Given the description of an element on the screen output the (x, y) to click on. 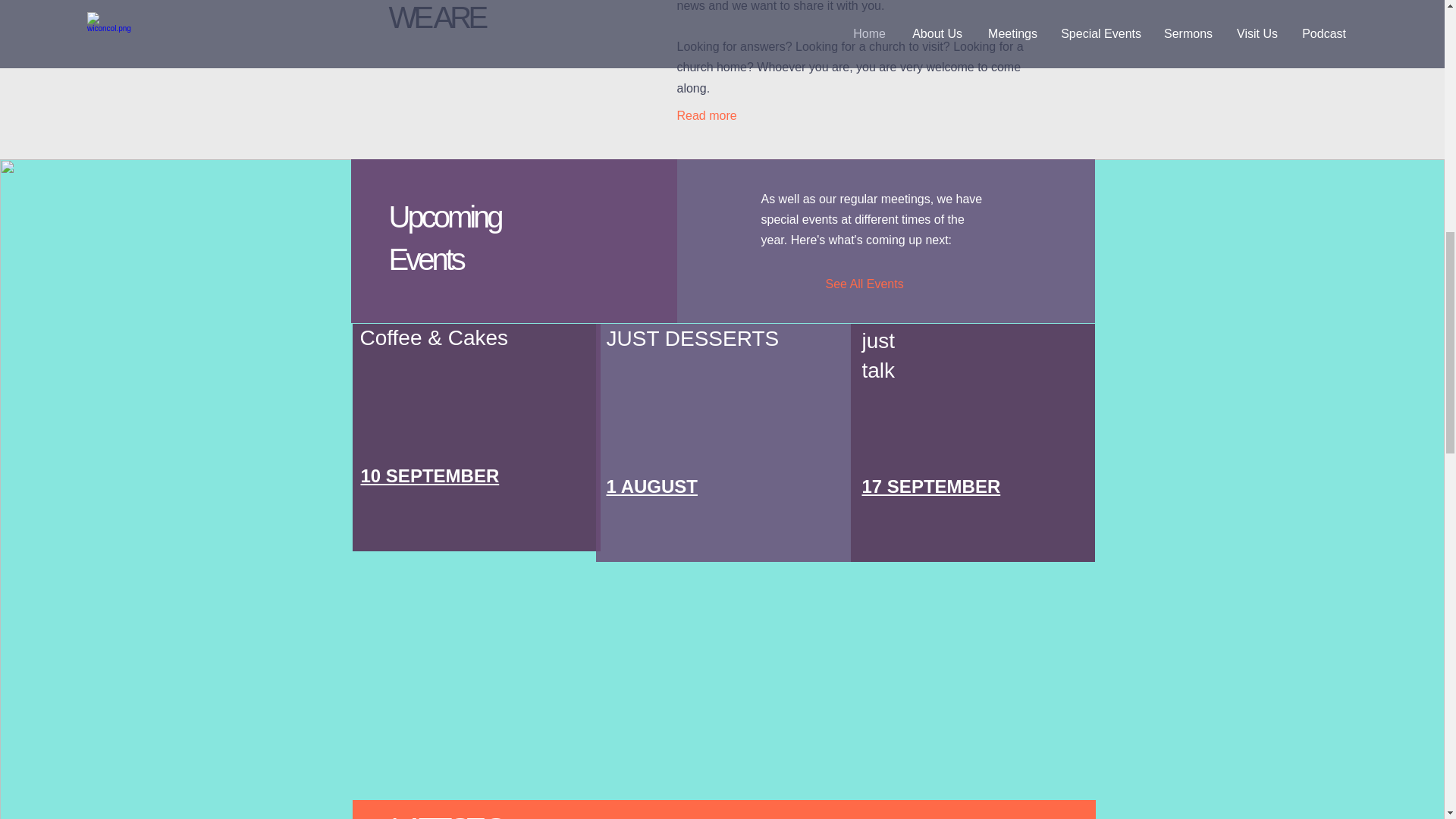
See All Events  (872, 283)
Read more (718, 115)
10 SEPTEMBER (430, 476)
